Given the description of an element on the screen output the (x, y) to click on. 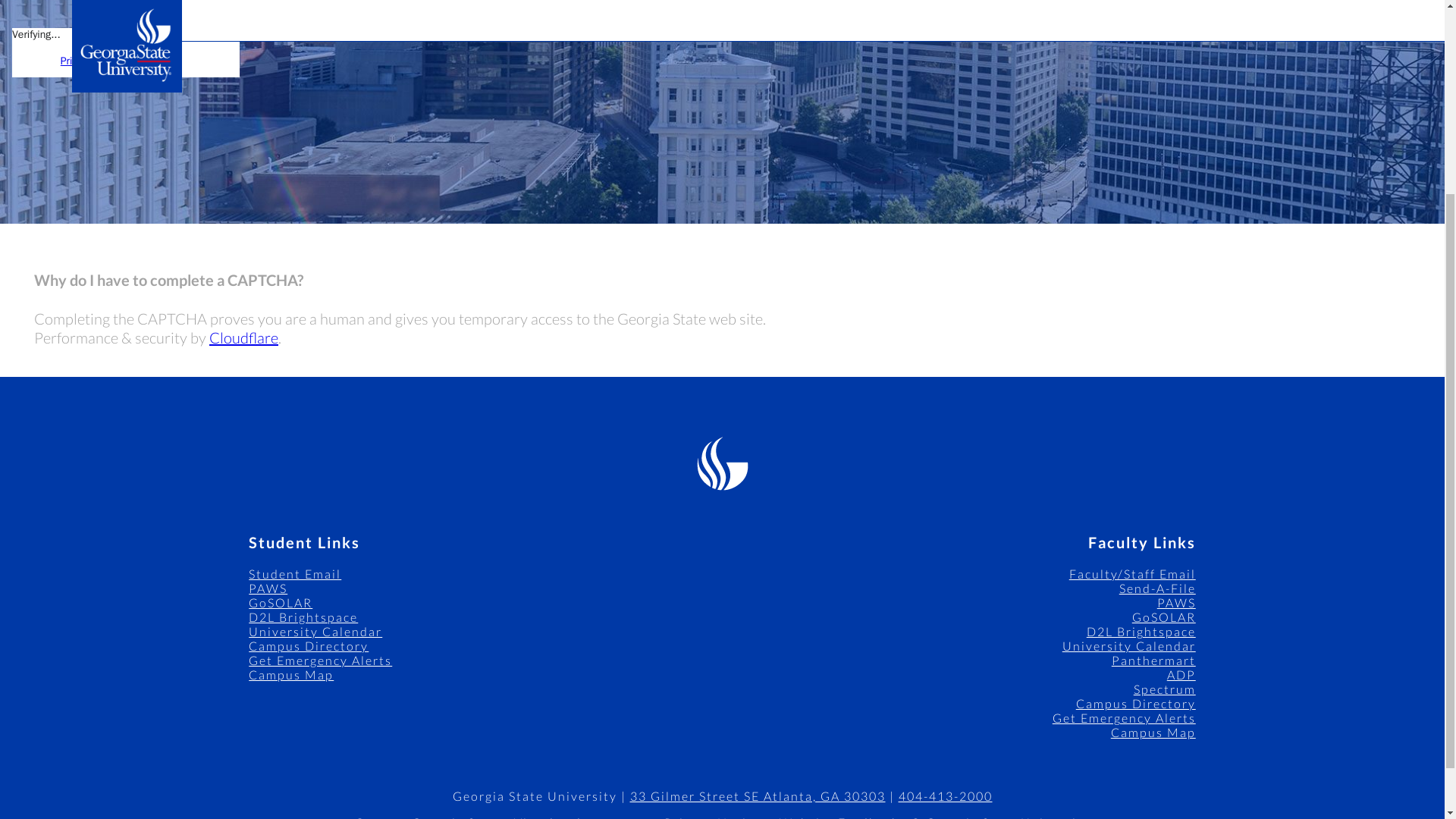
Get Emergency Alerts (319, 659)
Panthermart (1153, 659)
PAWS (267, 587)
33 Gilmer Street SE Atlanta, GA 30303 (756, 795)
Student Email (294, 573)
Campus Map (1152, 731)
Campus Directory (308, 645)
D2L Brightspace (303, 616)
University Calendar (314, 631)
Campus Directory (1135, 703)
Send-A-File (1157, 587)
ADP (1181, 674)
University Calendar (1128, 645)
Campus Map (290, 674)
PAWS (1176, 602)
